Given the description of an element on the screen output the (x, y) to click on. 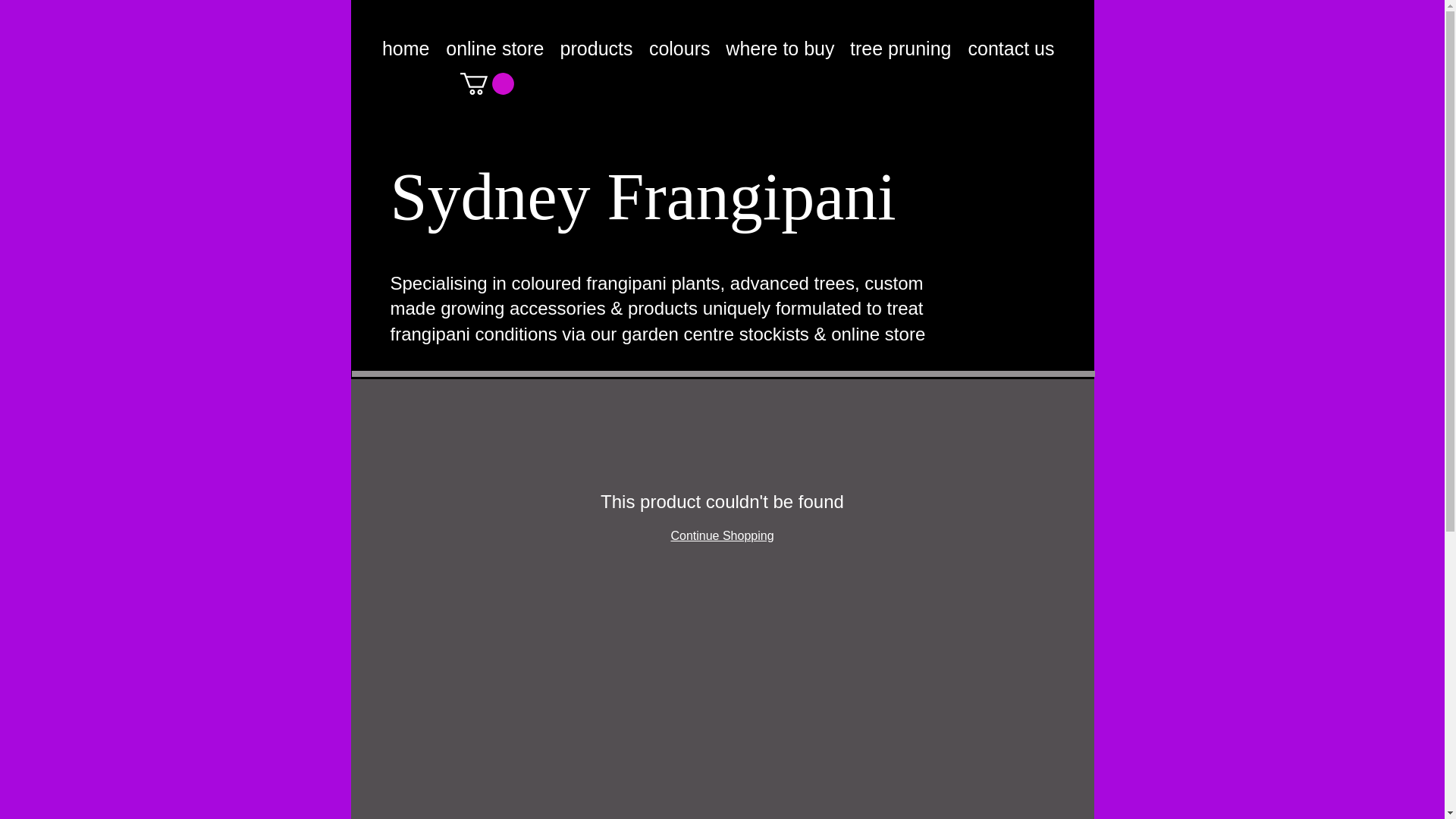
colours (678, 48)
contact us (1009, 48)
tree pruning (899, 48)
Continue Shopping (721, 535)
online store (493, 48)
where to buy (779, 48)
products (595, 48)
